Given the description of an element on the screen output the (x, y) to click on. 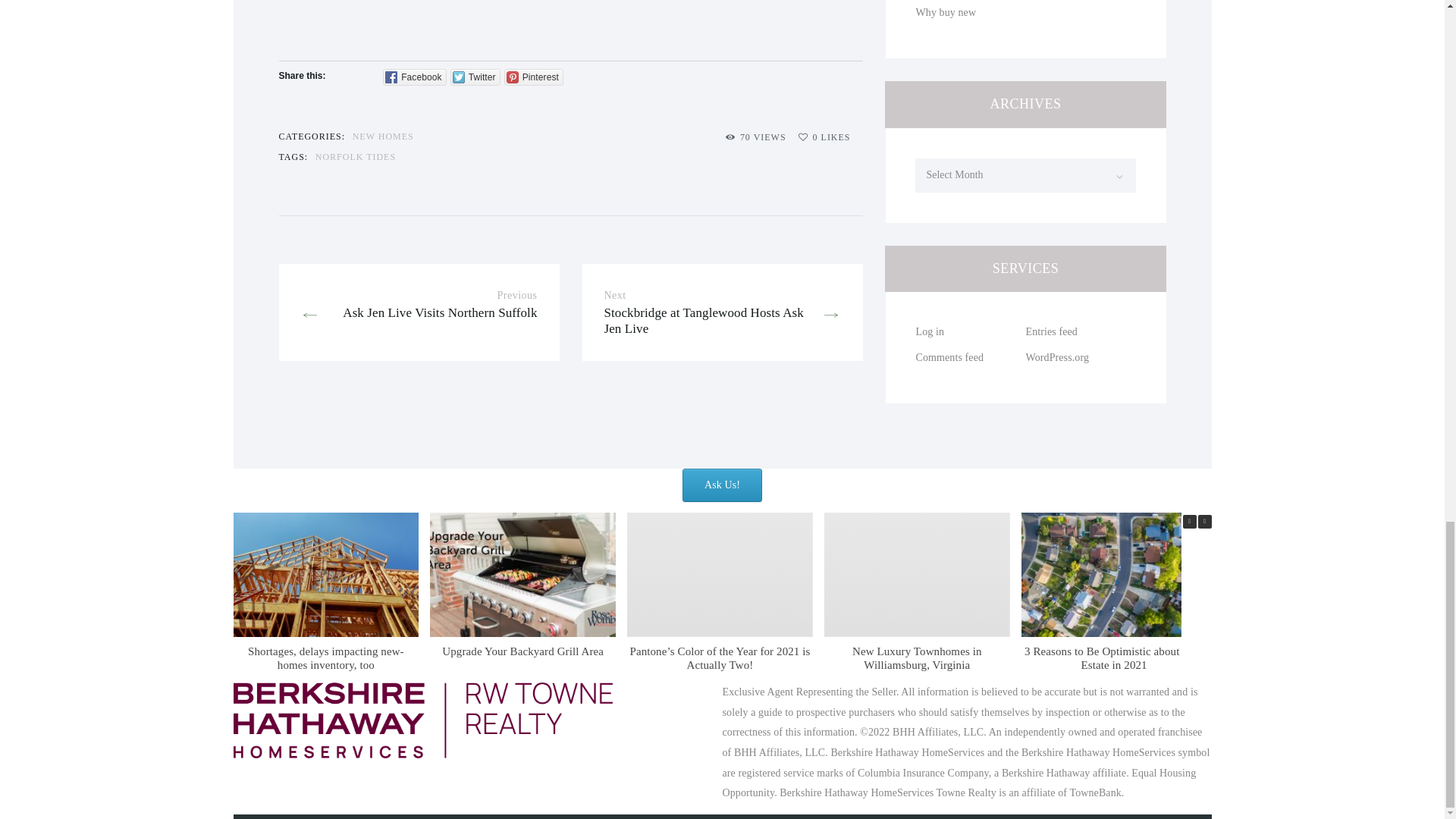
Click to share on Pinterest (533, 76)
Previous (1189, 521)
NORFOLK TIDES (355, 157)
Twitter (474, 76)
Share on Facebook (414, 76)
NEW HOMES (382, 136)
Pinterest (533, 76)
Facebook (414, 76)
0 LIKES (419, 312)
Next (823, 137)
Click to share on Twitter (1204, 521)
Like (722, 312)
